Given the description of an element on the screen output the (x, y) to click on. 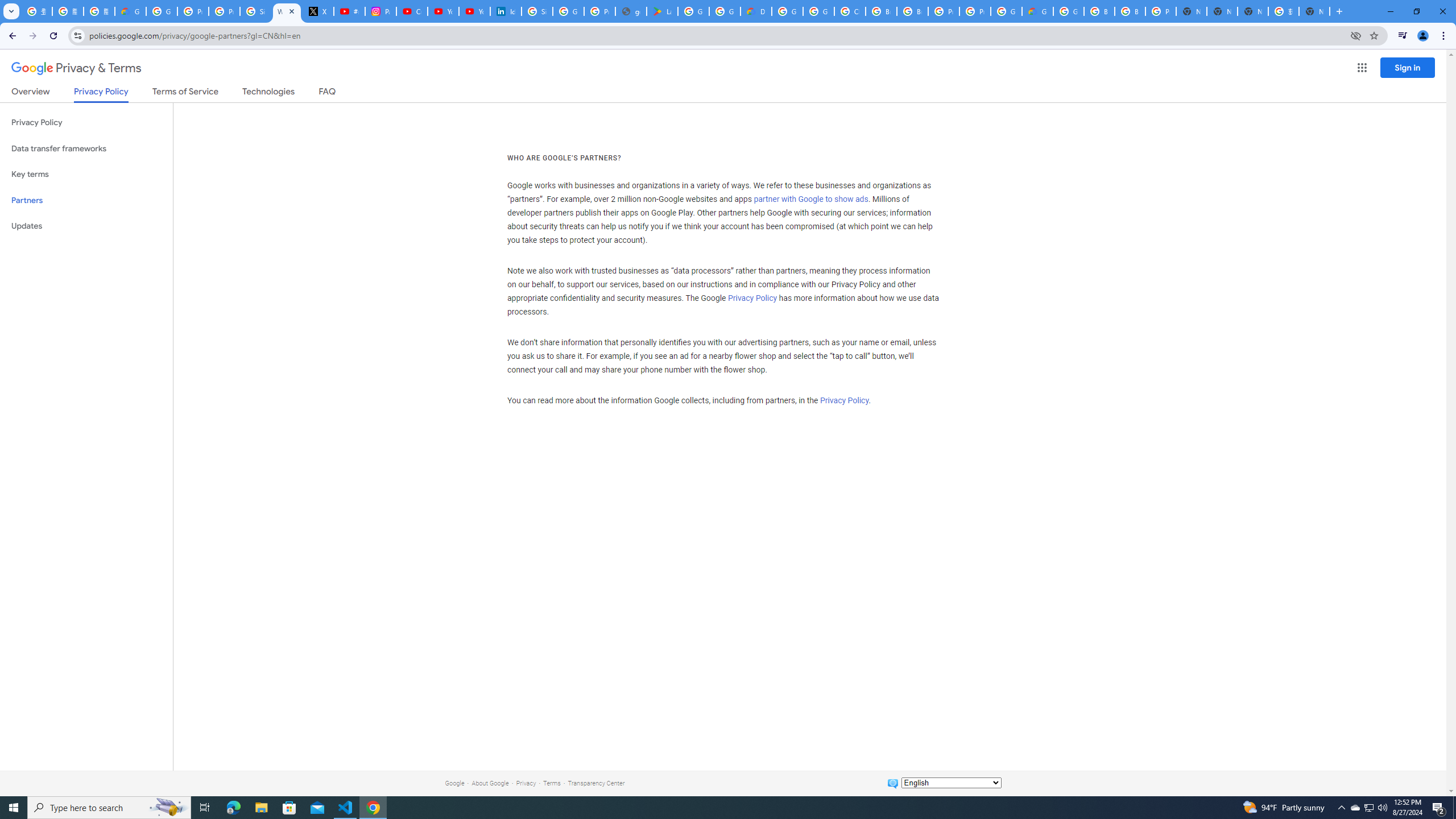
New Tab (1190, 11)
Transparency Center (595, 783)
